Given the description of an element on the screen output the (x, y) to click on. 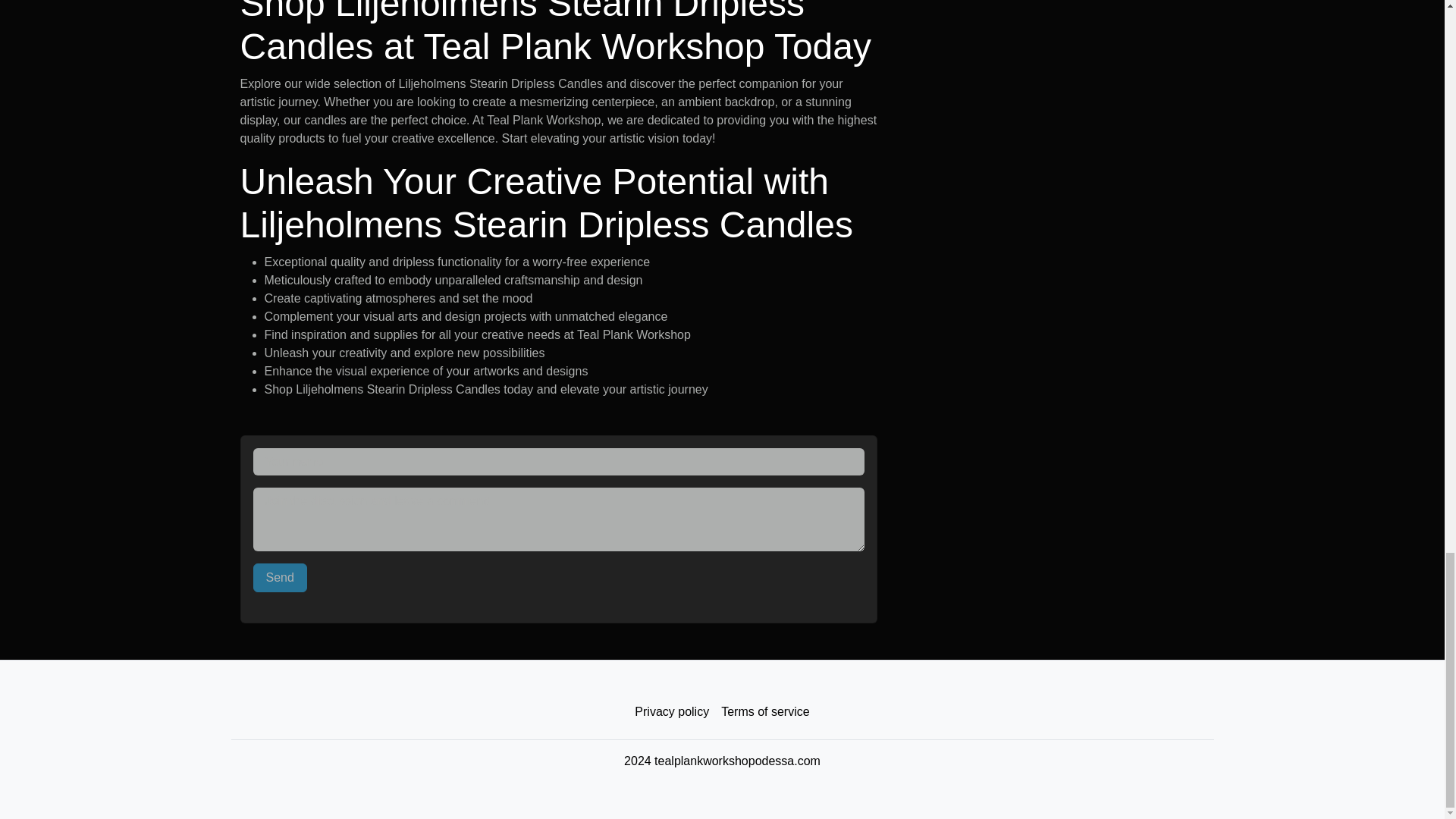
Send (280, 577)
Send (280, 577)
Privacy policy (671, 711)
Terms of service (764, 711)
